Given the description of an element on the screen output the (x, y) to click on. 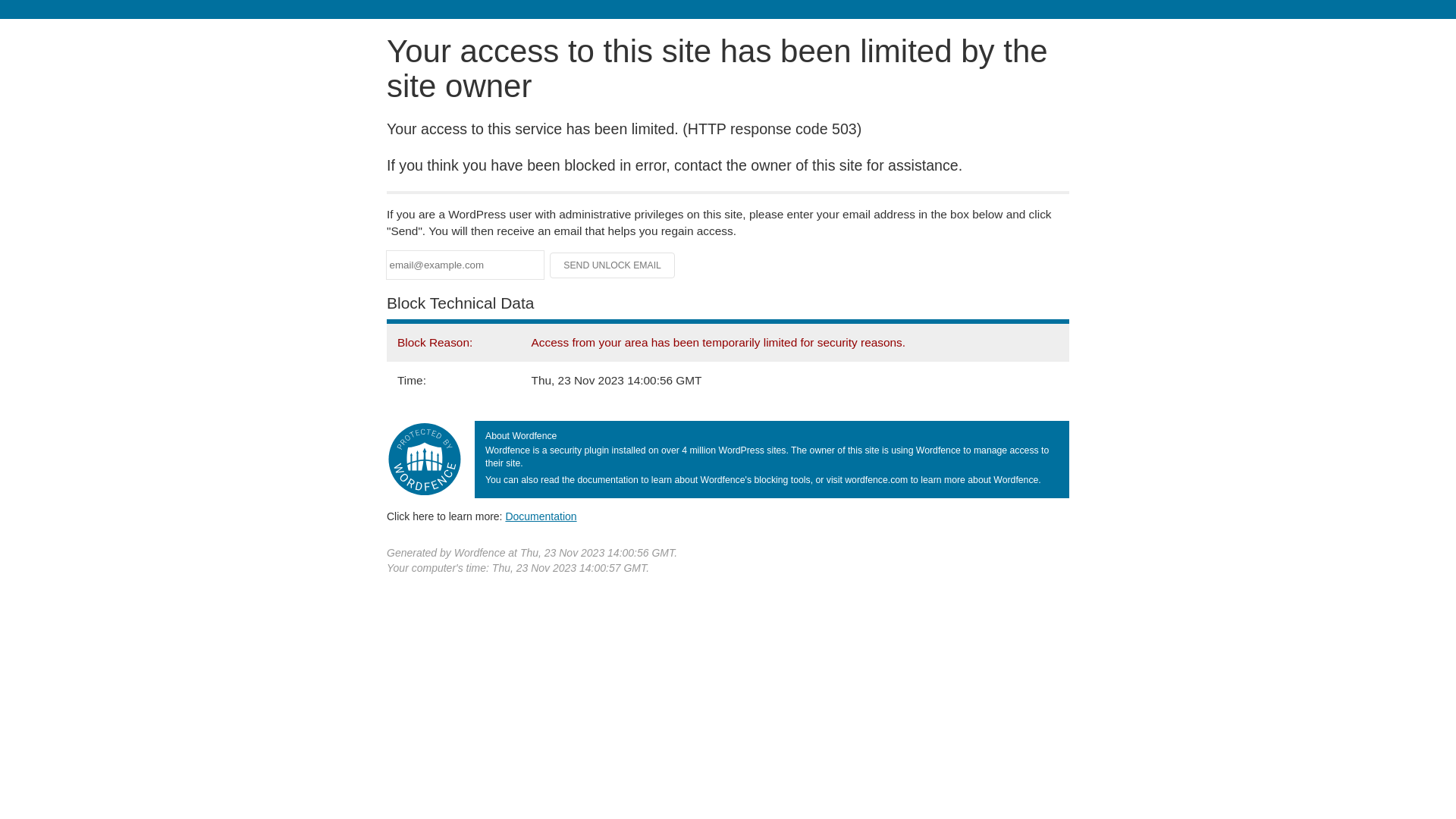
Send Unlock Email Element type: text (612, 265)
Documentation Element type: text (540, 516)
